Given the description of an element on the screen output the (x, y) to click on. 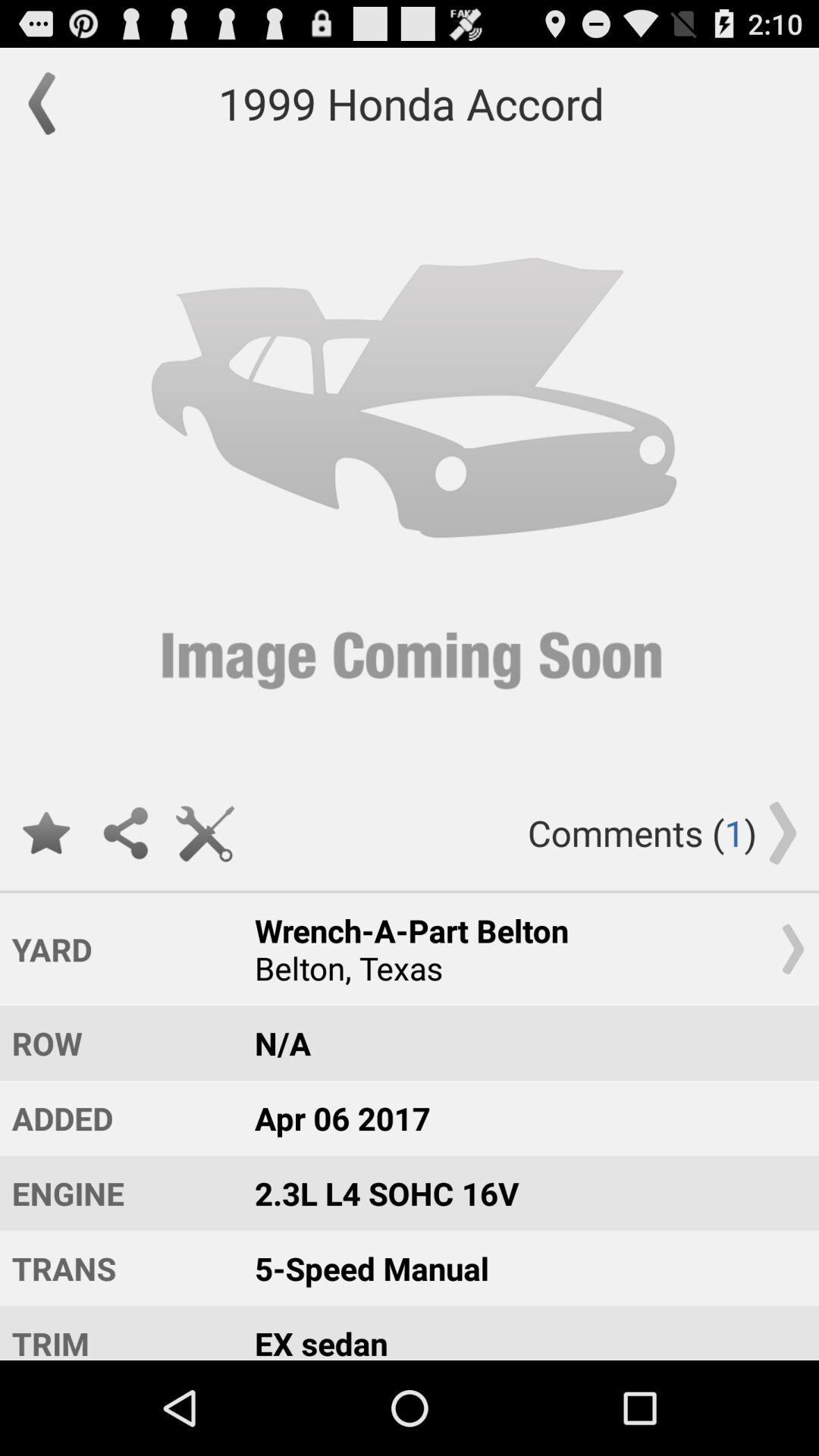
tap the n/a (522, 1042)
